Given the description of an element on the screen output the (x, y) to click on. 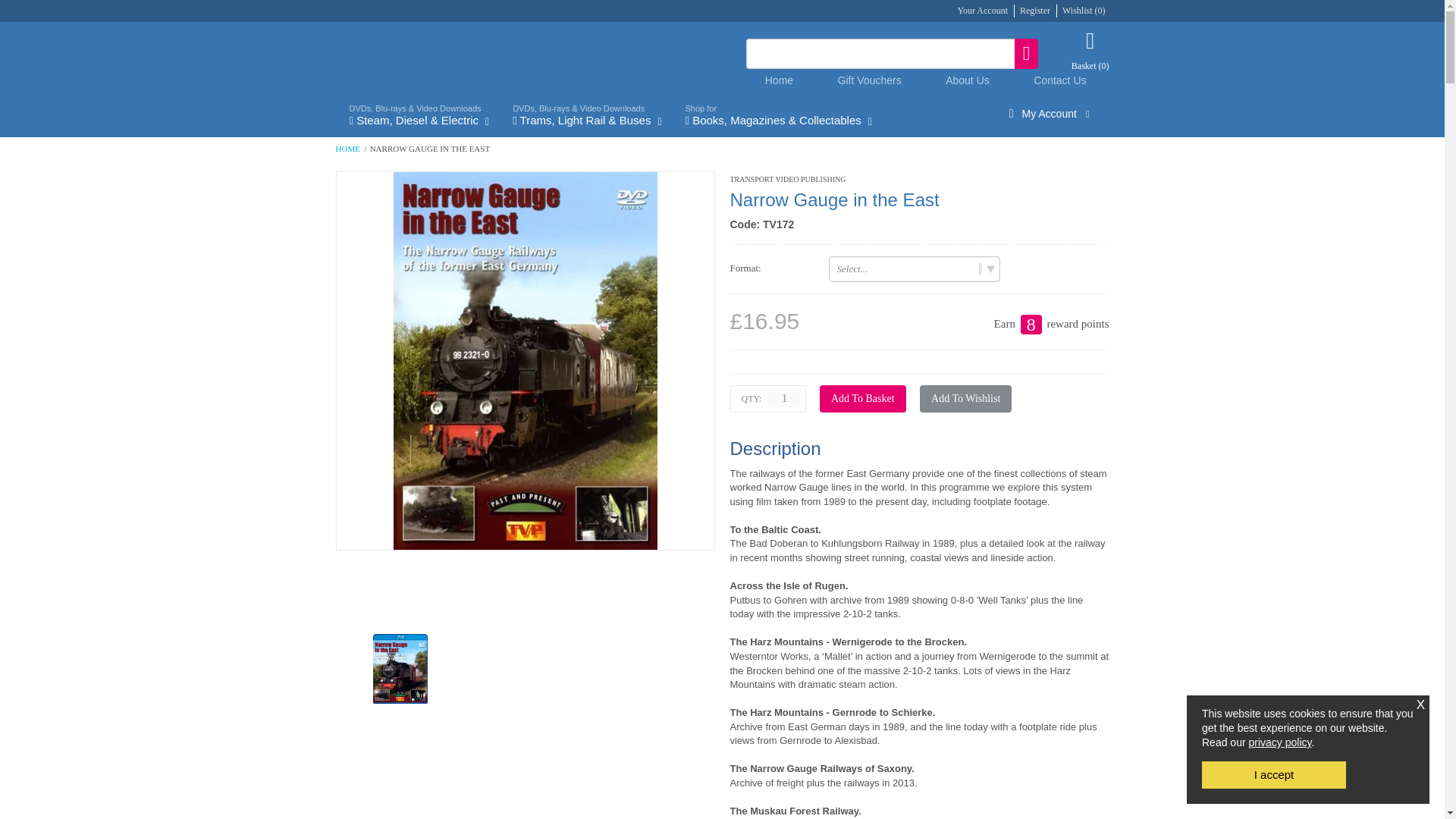
Register (1034, 9)
Contact Us (1059, 80)
Your Account (982, 9)
Home (779, 80)
About Us (967, 80)
Gift Vouchers (869, 80)
1 (784, 398)
